Given the description of an element on the screen output the (x, y) to click on. 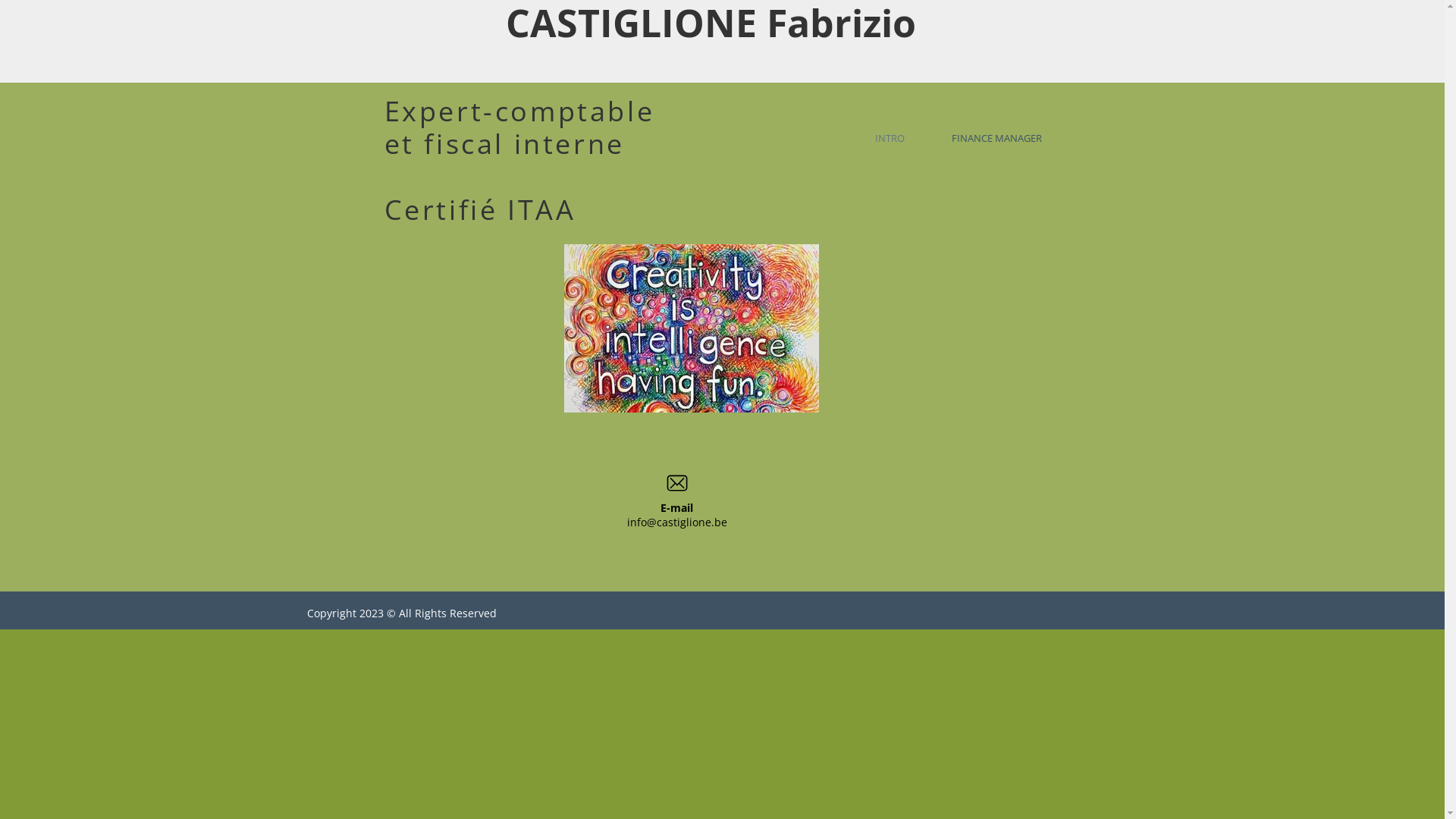
INTRO Element type: text (893, 137)
info@castiglione.be Element type: text (676, 521)
FINANCE MANAGER Element type: text (1005, 137)
